Given the description of an element on the screen output the (x, y) to click on. 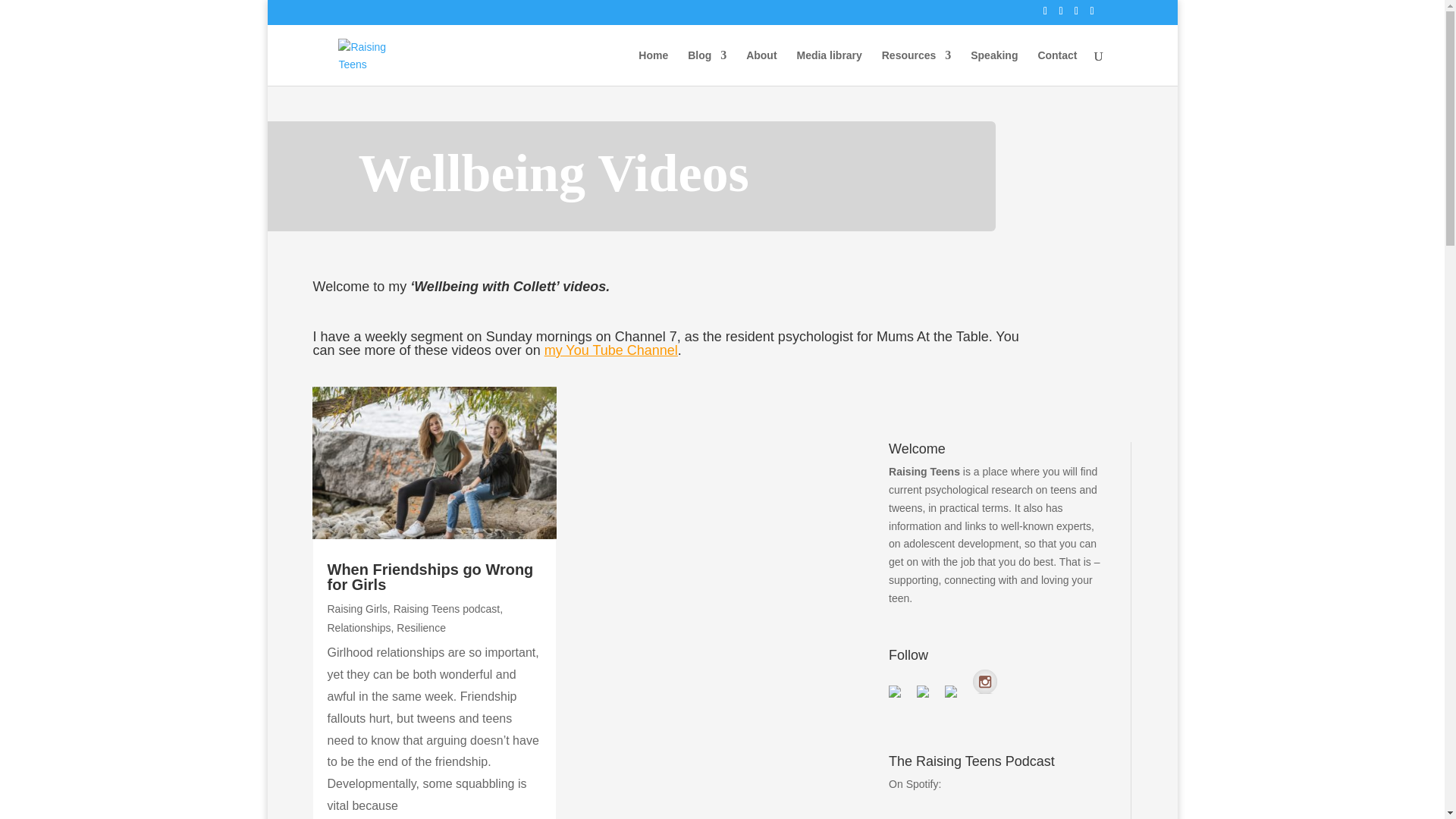
Resources (917, 67)
Follow us on Facebook (900, 697)
Blog (706, 67)
Find us on YouTube (950, 694)
About (760, 67)
Contact (1056, 67)
Find us on YouTube (956, 697)
Home (653, 67)
Follow us on Facebook (894, 694)
Check out our instagram feed (984, 681)
Speaking (994, 67)
Media library (828, 67)
